Given the description of an element on the screen output the (x, y) to click on. 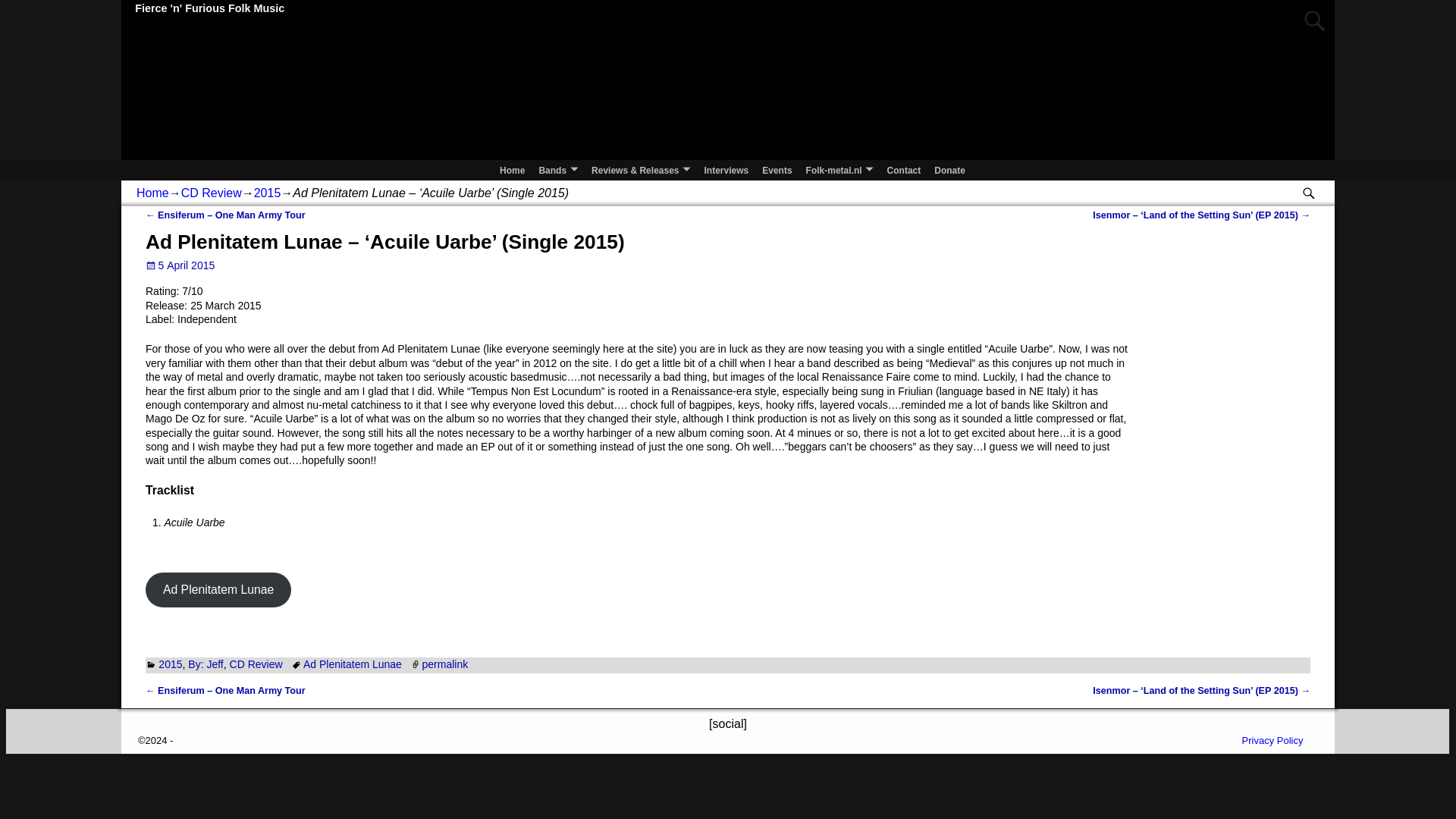
Bands (558, 169)
Support Us (949, 169)
Home (512, 169)
10:09 (179, 265)
